Given the description of an element on the screen output the (x, y) to click on. 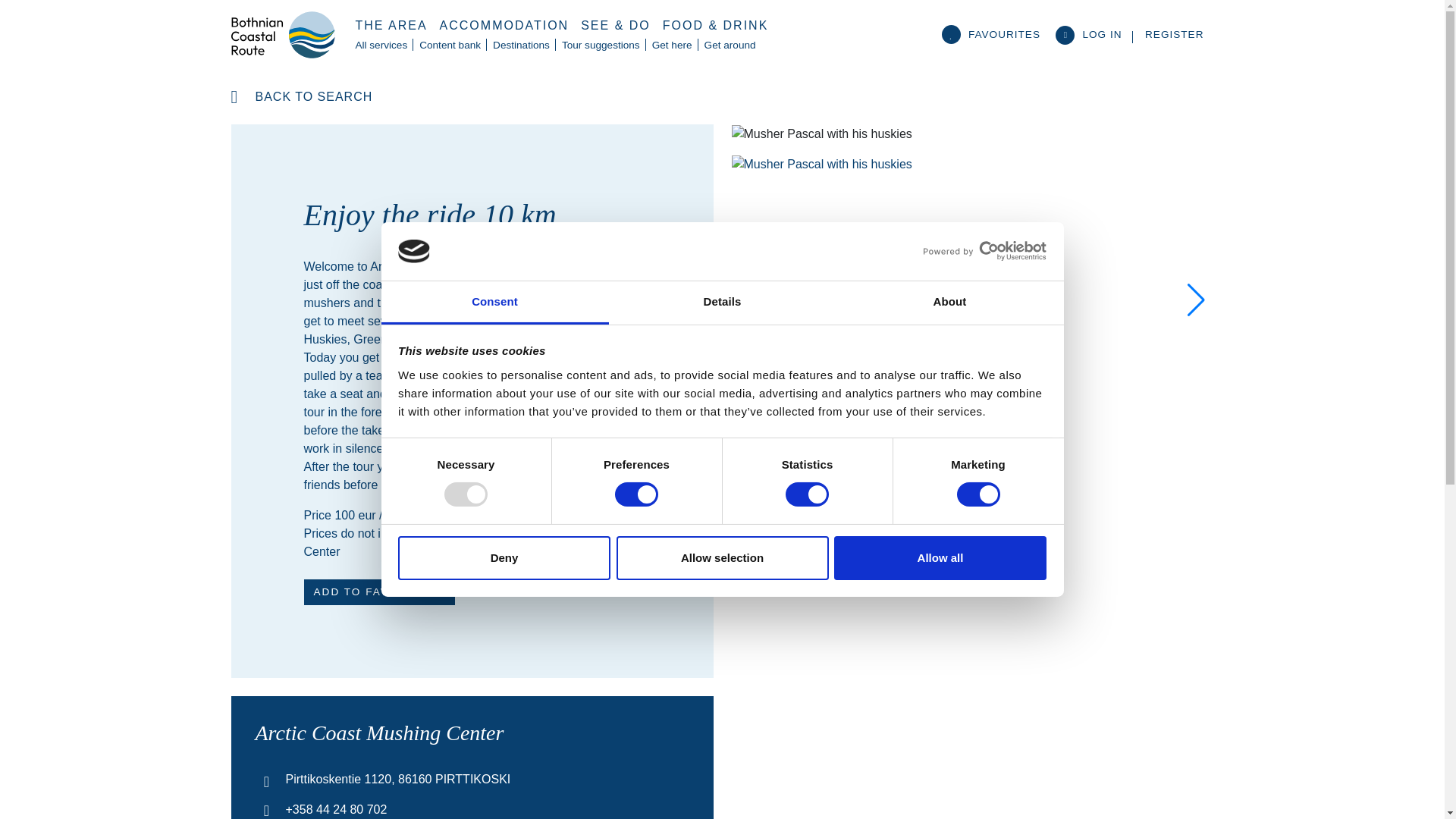
All services (381, 45)
THE AREA (390, 25)
Get here (672, 45)
The Area (390, 25)
Allow selection (721, 557)
Content bank (449, 45)
Destinations (521, 45)
Consent (494, 302)
Details (721, 302)
Get around (729, 45)
